Given the description of an element on the screen output the (x, y) to click on. 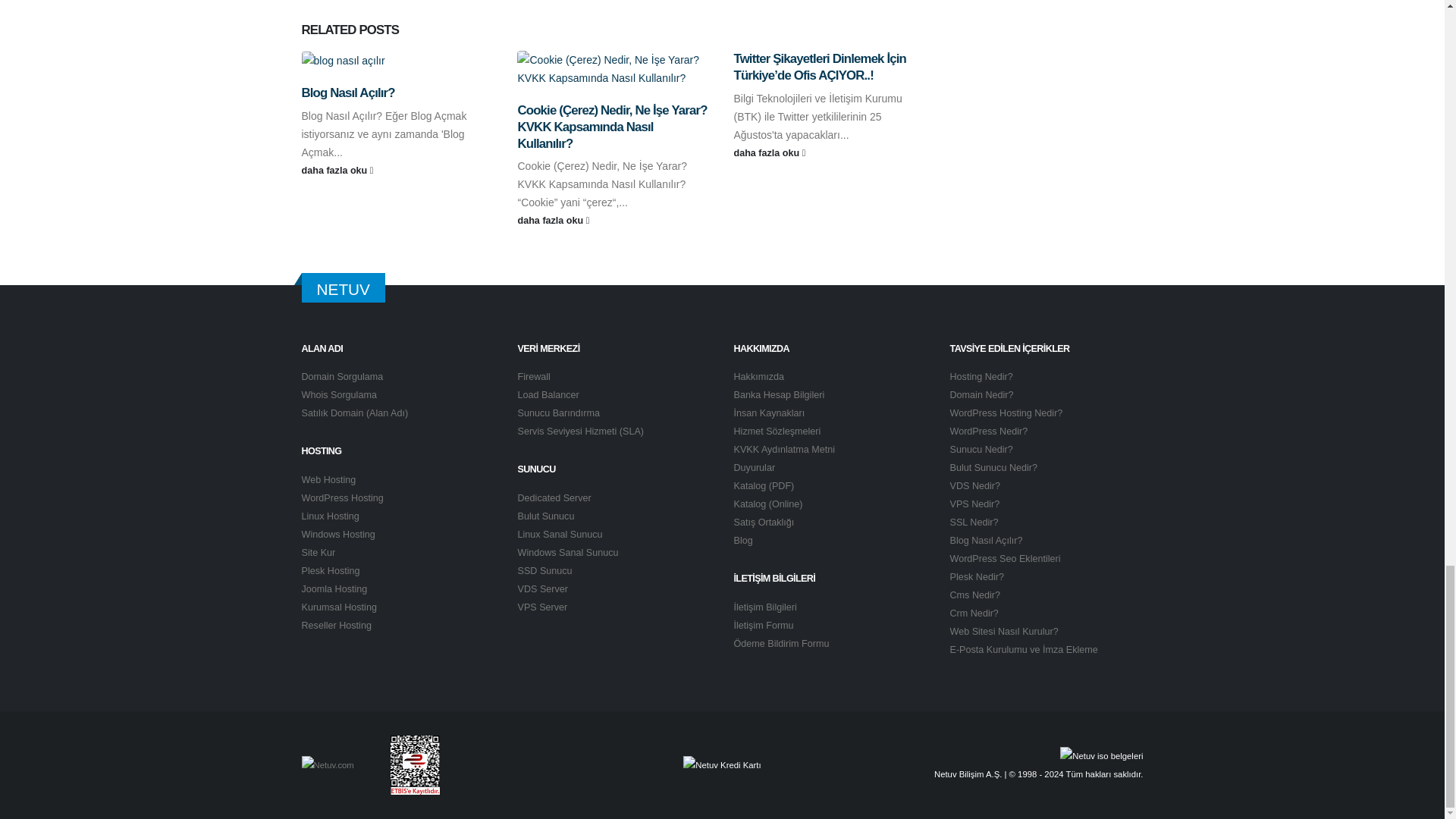
Netuv.com -  (327, 764)
